Given the description of an element on the screen output the (x, y) to click on. 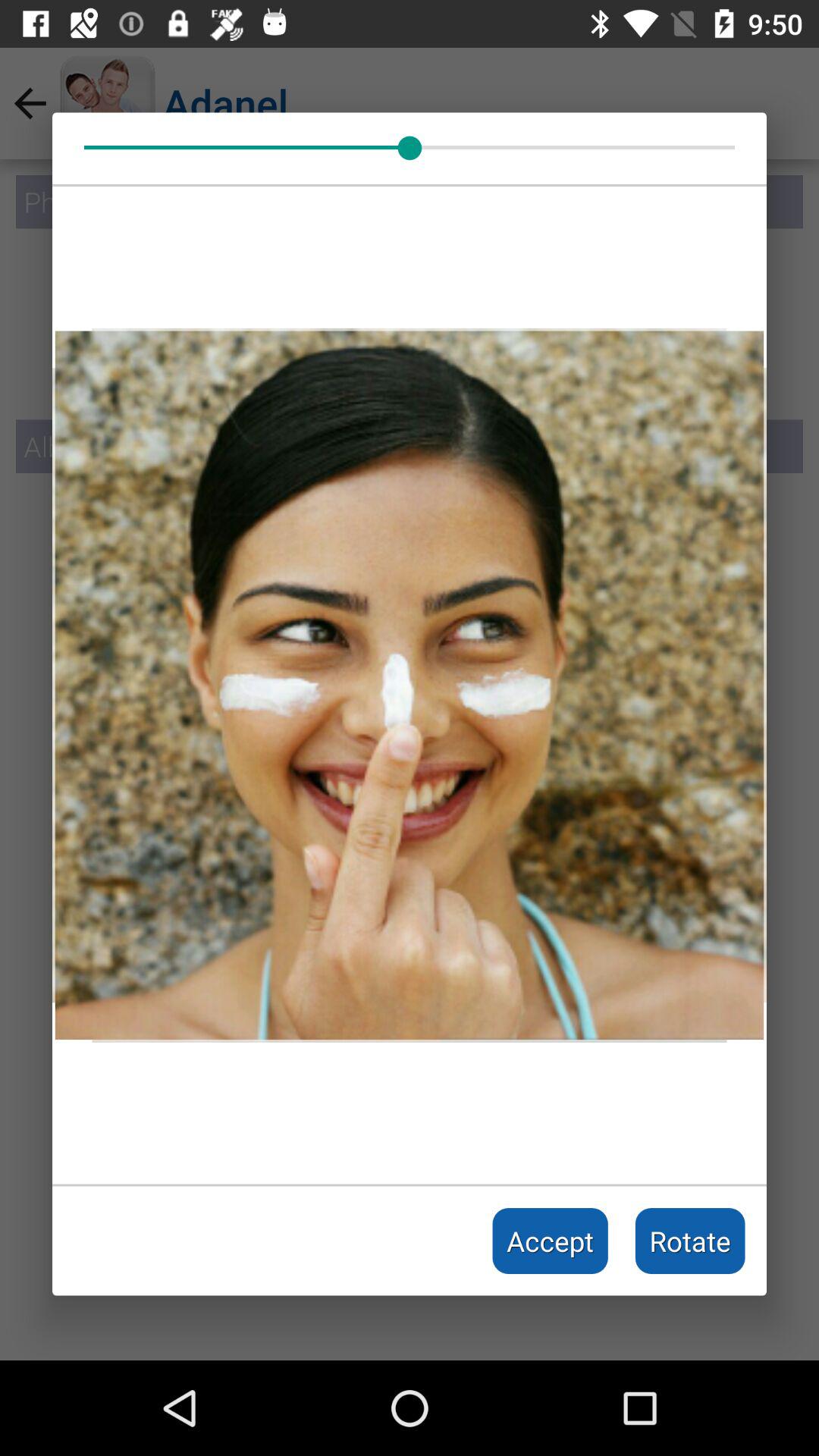
jump to the rotate icon (689, 1240)
